Given the description of an element on the screen output the (x, y) to click on. 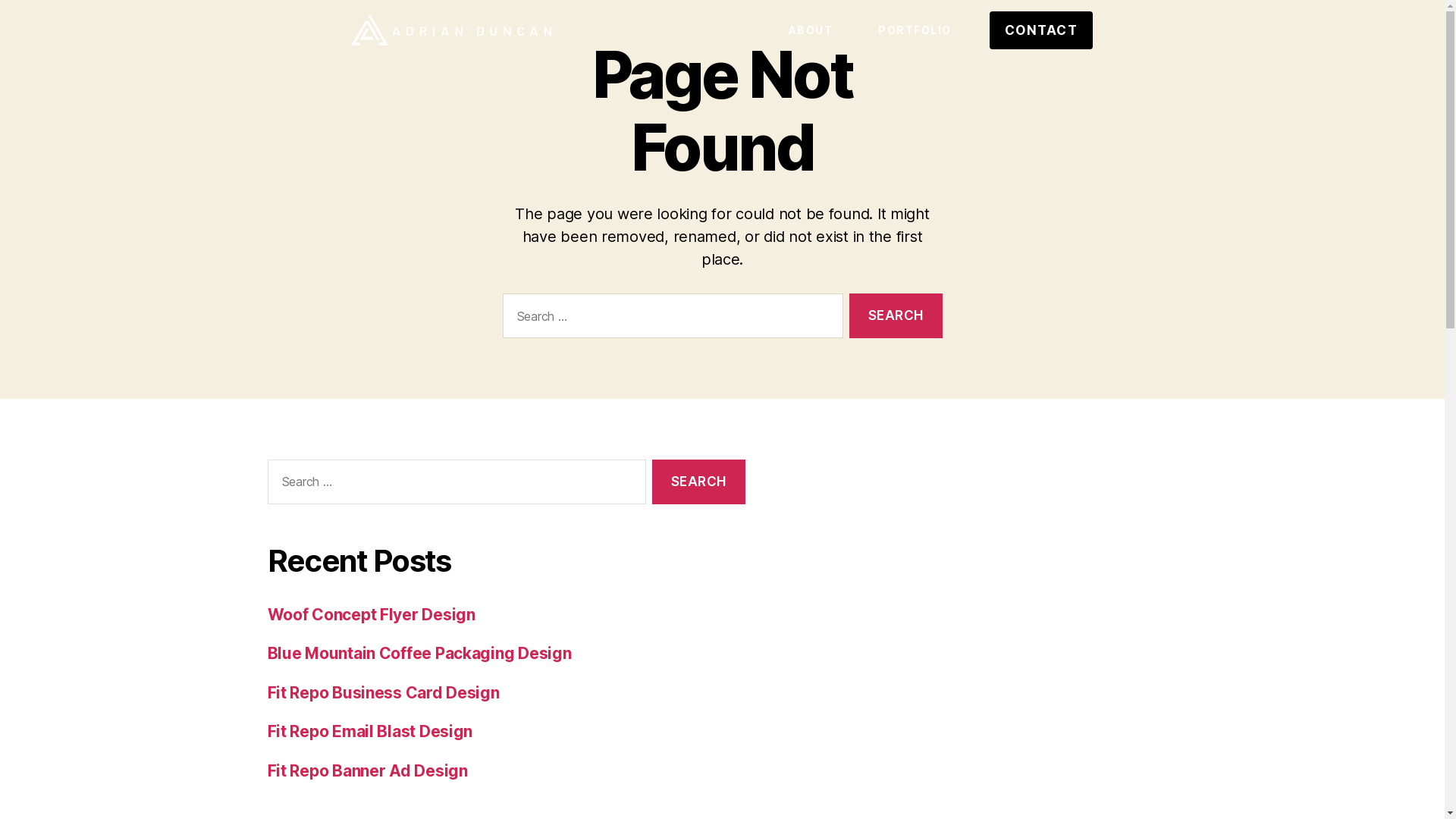
Search Element type: text (698, 481)
Search Element type: text (895, 315)
PORTFOLIO Element type: text (914, 29)
Blue Mountain Coffee Packaging Design Element type: text (418, 652)
Woof Concept Flyer Design Element type: text (370, 614)
Fit Repo Banner Ad Design Element type: text (366, 770)
Fit Repo Business Card Design Element type: text (382, 692)
Fit Repo Email Blast Design Element type: text (369, 730)
CONTACT Element type: text (1041, 30)
ABOUT Element type: text (810, 29)
